Given the description of an element on the screen output the (x, y) to click on. 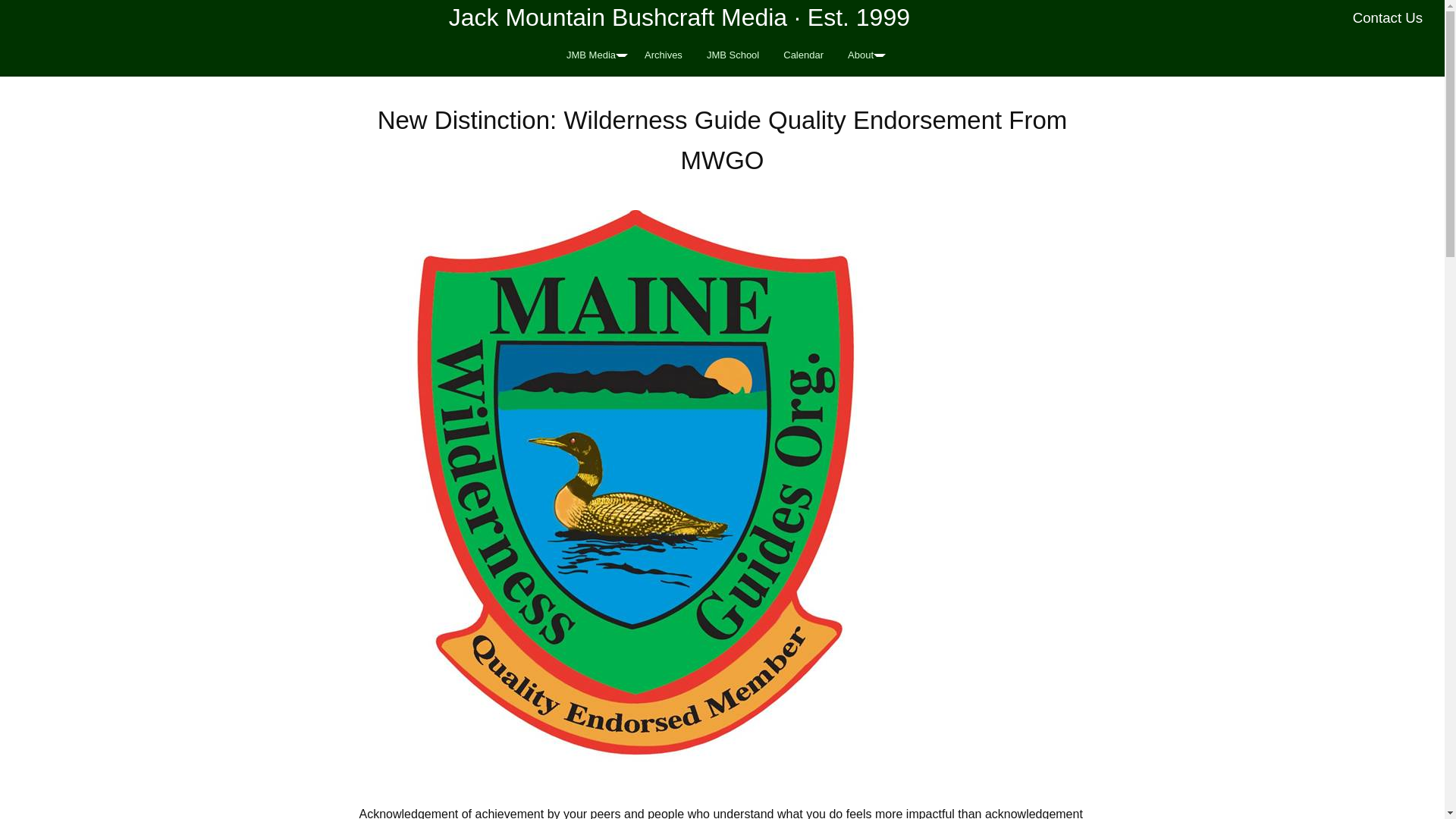
Calendar (803, 55)
JMB School (732, 55)
Contact Us (1387, 17)
About (862, 55)
Archives (662, 55)
JMB Media (592, 55)
